Given the description of an element on the screen output the (x, y) to click on. 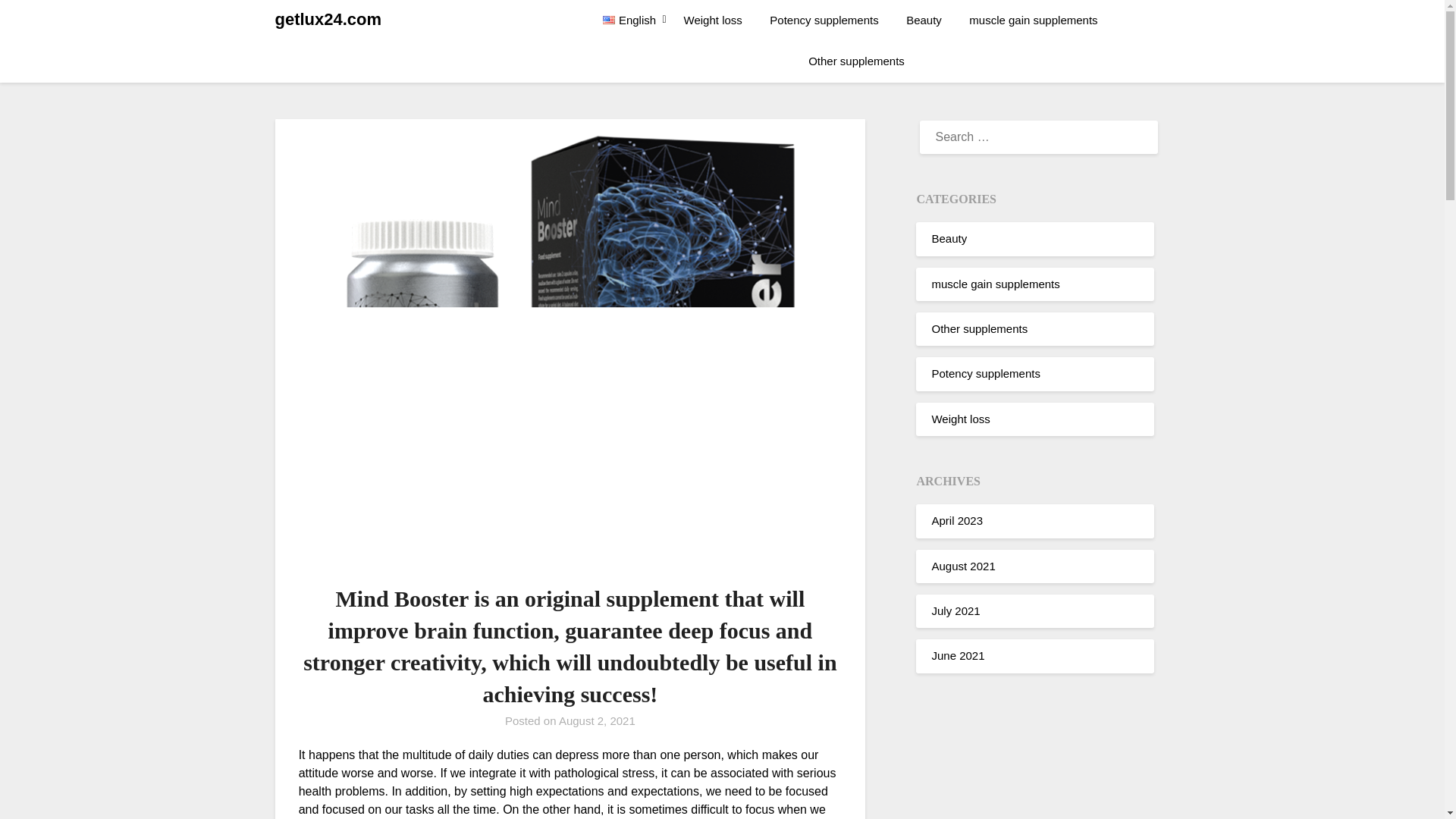
English (635, 20)
getlux24.com (328, 19)
